Given the description of an element on the screen output the (x, y) to click on. 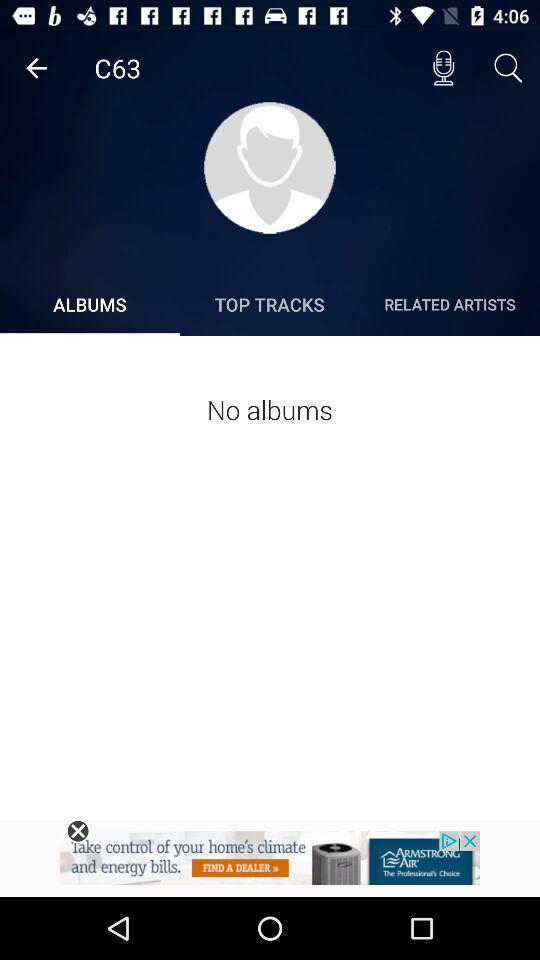
close the advertisement (78, 831)
